Given the description of an element on the screen output the (x, y) to click on. 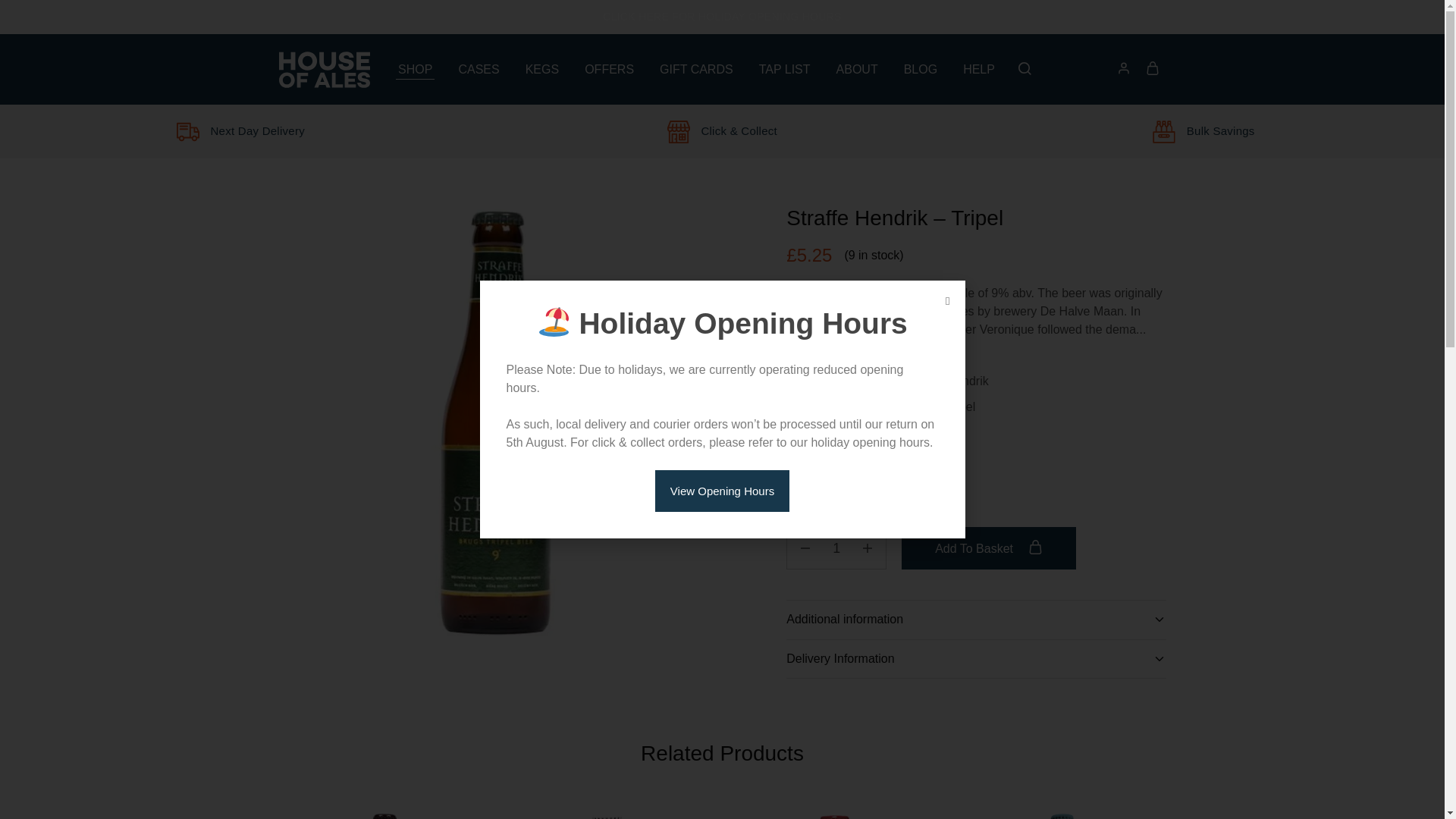
GIFT CARDS (696, 68)
HELP (978, 68)
ABOUT (857, 68)
OFFERS (609, 68)
KEGS (541, 68)
TAP LIST (784, 68)
CLICK HERE FOR HOLIDAY OPENING HOURS (721, 17)
BLOG (920, 68)
SHOP (414, 68)
CASES (477, 68)
